Given the description of an element on the screen output the (x, y) to click on. 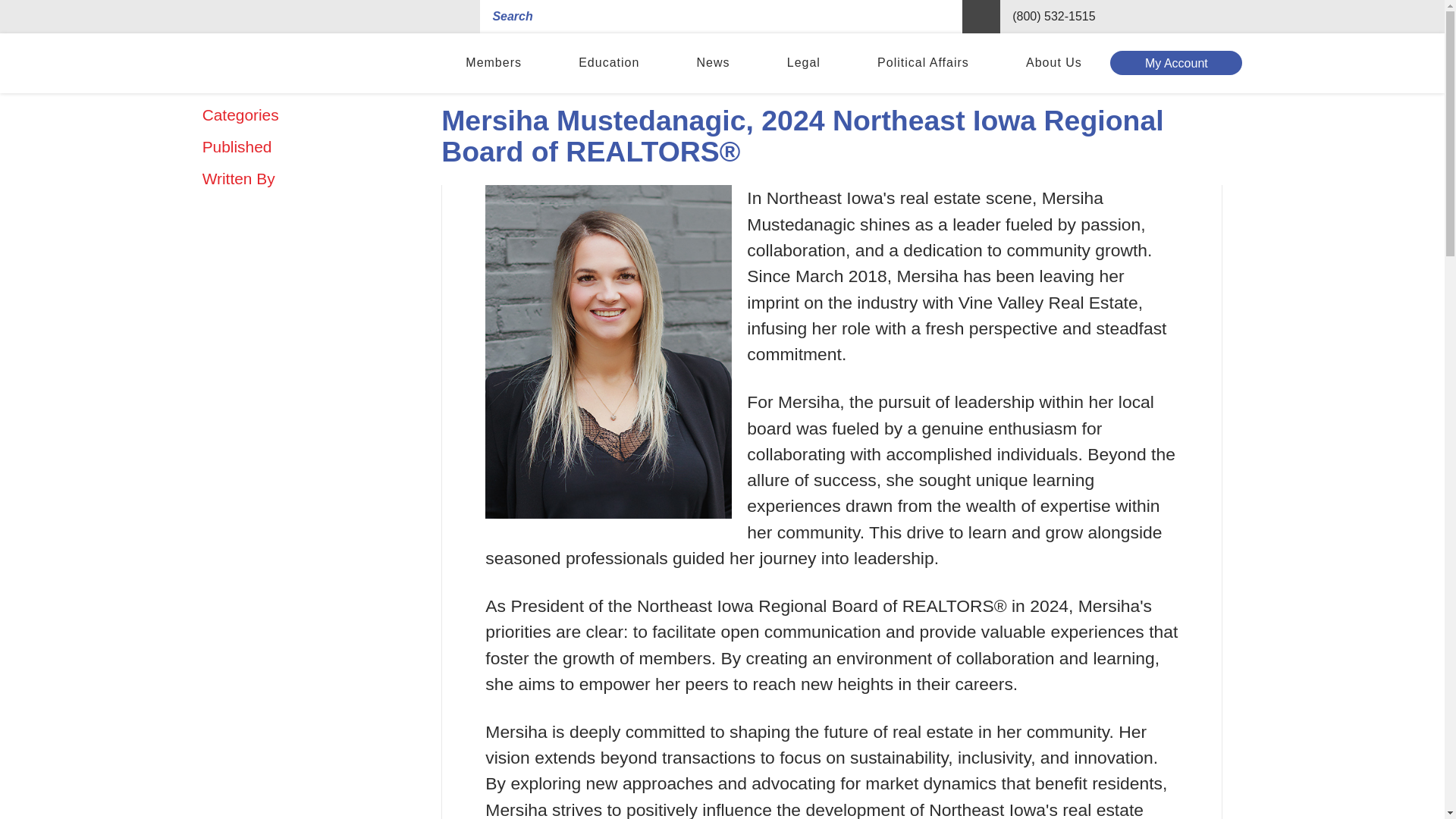
Search (981, 16)
Search (981, 16)
Education (609, 63)
Members (494, 63)
